Given the description of an element on the screen output the (x, y) to click on. 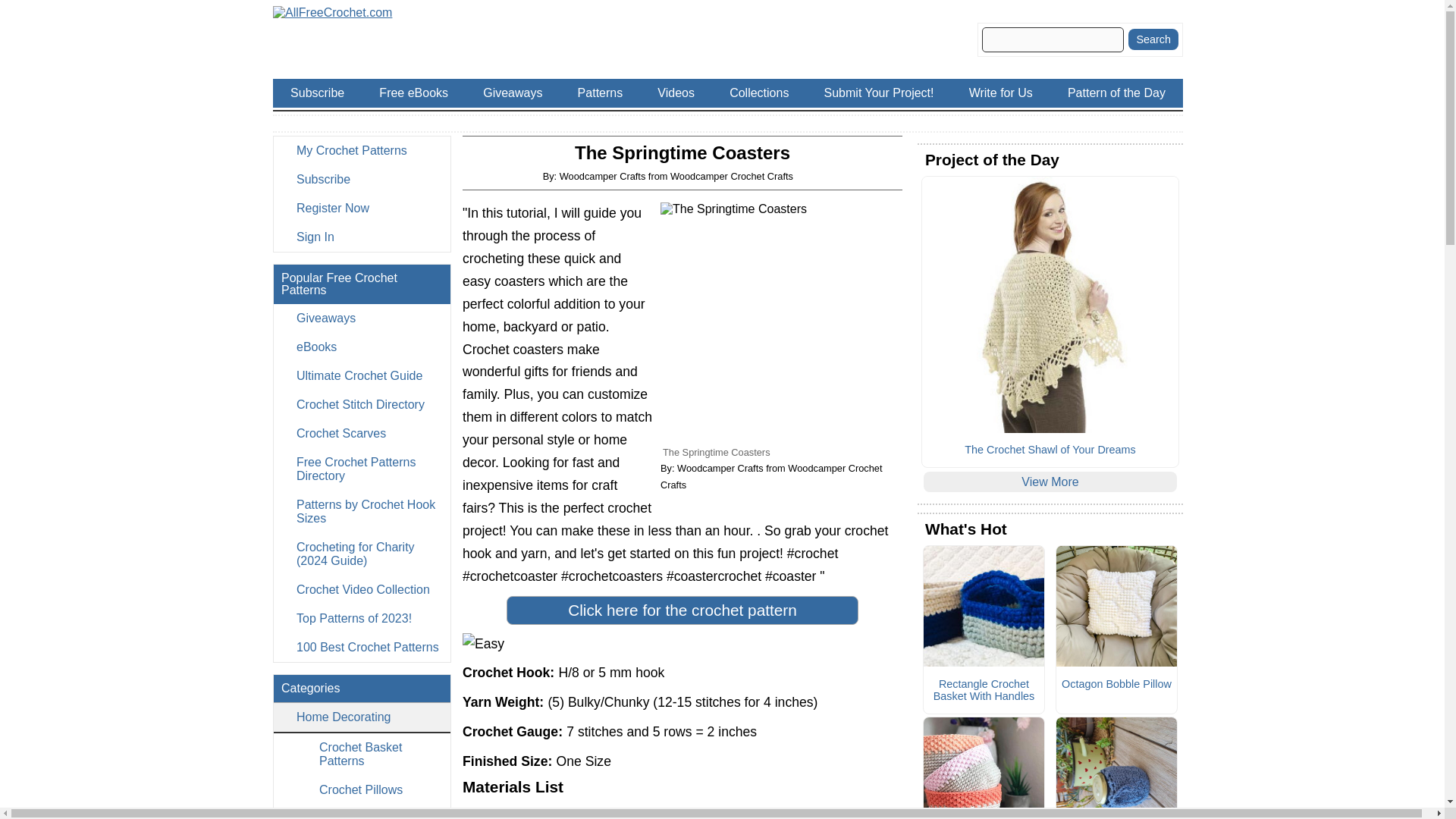
My Crochet Patterns (361, 150)
Subscribe (361, 179)
Register Now (361, 208)
Sign In (361, 236)
The Springtime Coasters (781, 323)
Search (1152, 38)
